Given the description of an element on the screen output the (x, y) to click on. 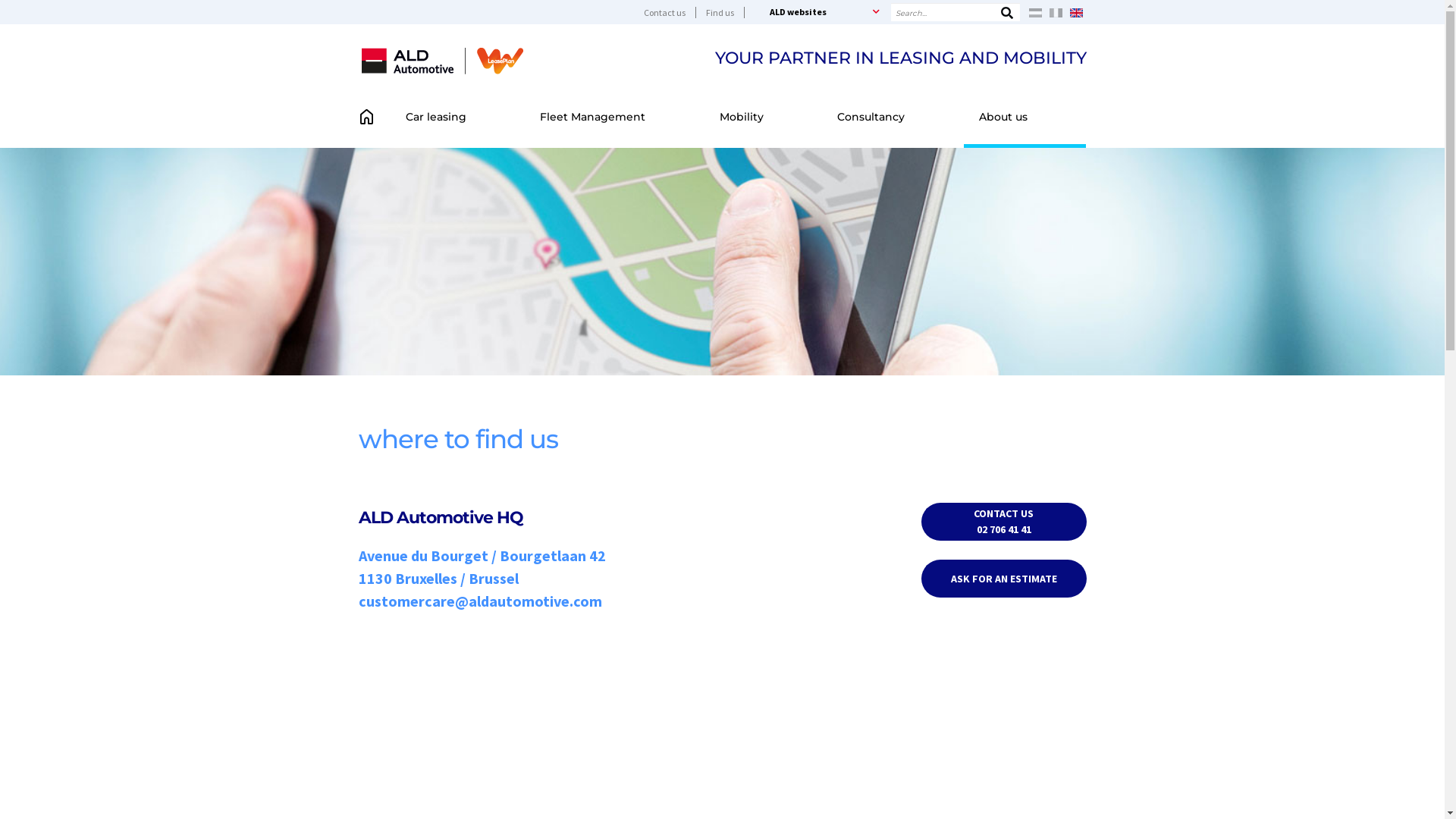
About us Element type: text (1025, 116)
Consultancy Element type: text (892, 116)
Fleet Management Element type: text (614, 116)
ASK FOR AN ESTIMATE Element type: text (1003, 578)
02 706 41 41 Element type: text (1003, 529)
Mobility Element type: text (763, 116)
Contact us Element type: text (669, 12)
Clear search text Element type: hover (1005, 14)
Belgium Element type: hover (440, 59)
English (United States) Element type: hover (1076, 11)
Search Element type: text (1006, 12)
Find us Element type: text (724, 12)
Car leasing Element type: text (456, 116)
